Given the description of an element on the screen output the (x, y) to click on. 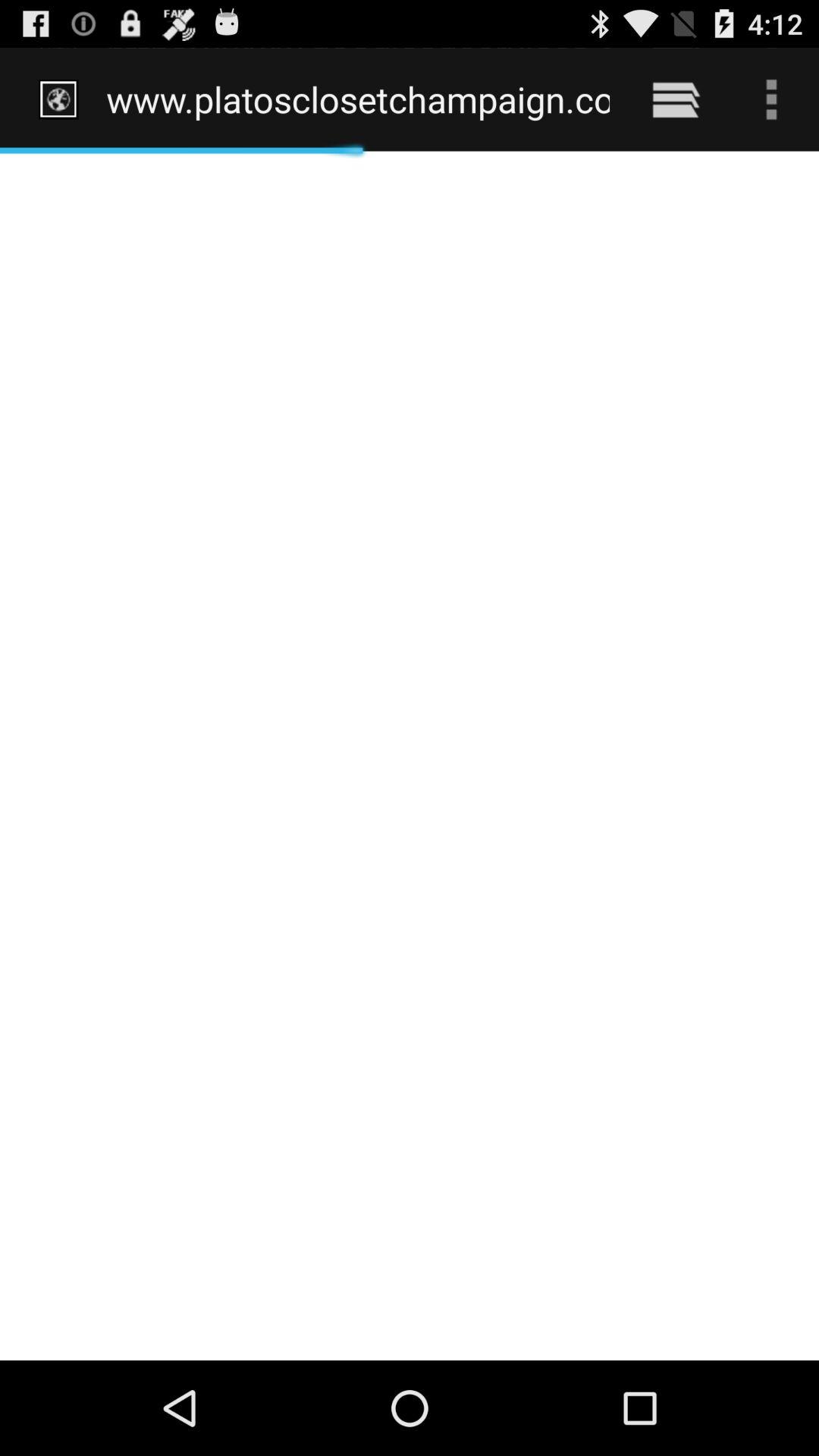
open icon at the center (409, 755)
